Given the description of an element on the screen output the (x, y) to click on. 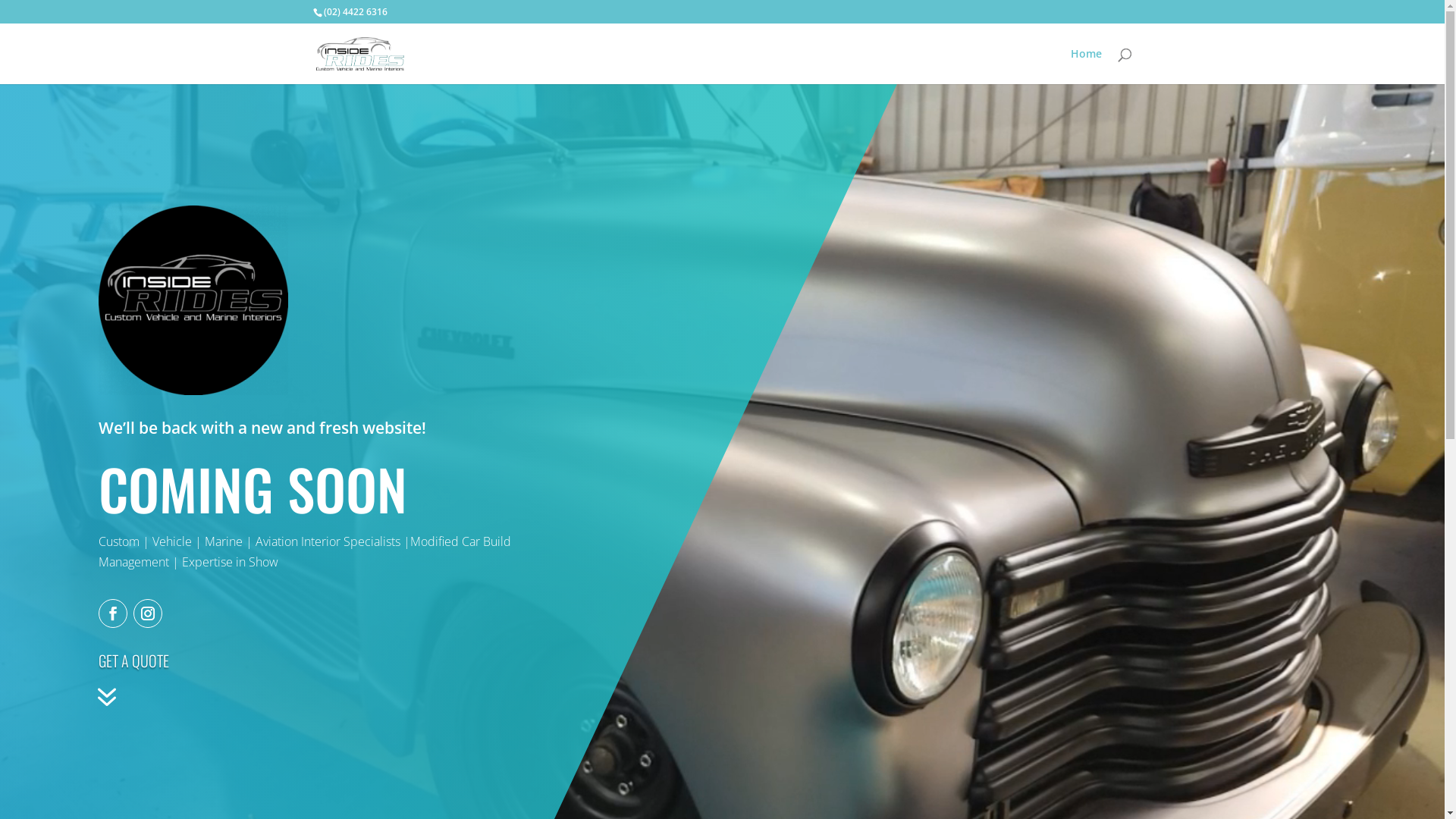
cropped-Inside_Rides_favicon1_blk.png Element type: hover (193, 300)
Follow on Facebook Element type: hover (112, 613)
Follow on Instagram Element type: hover (147, 613)
Home Element type: text (1085, 66)
